Given the description of an element on the screen output the (x, y) to click on. 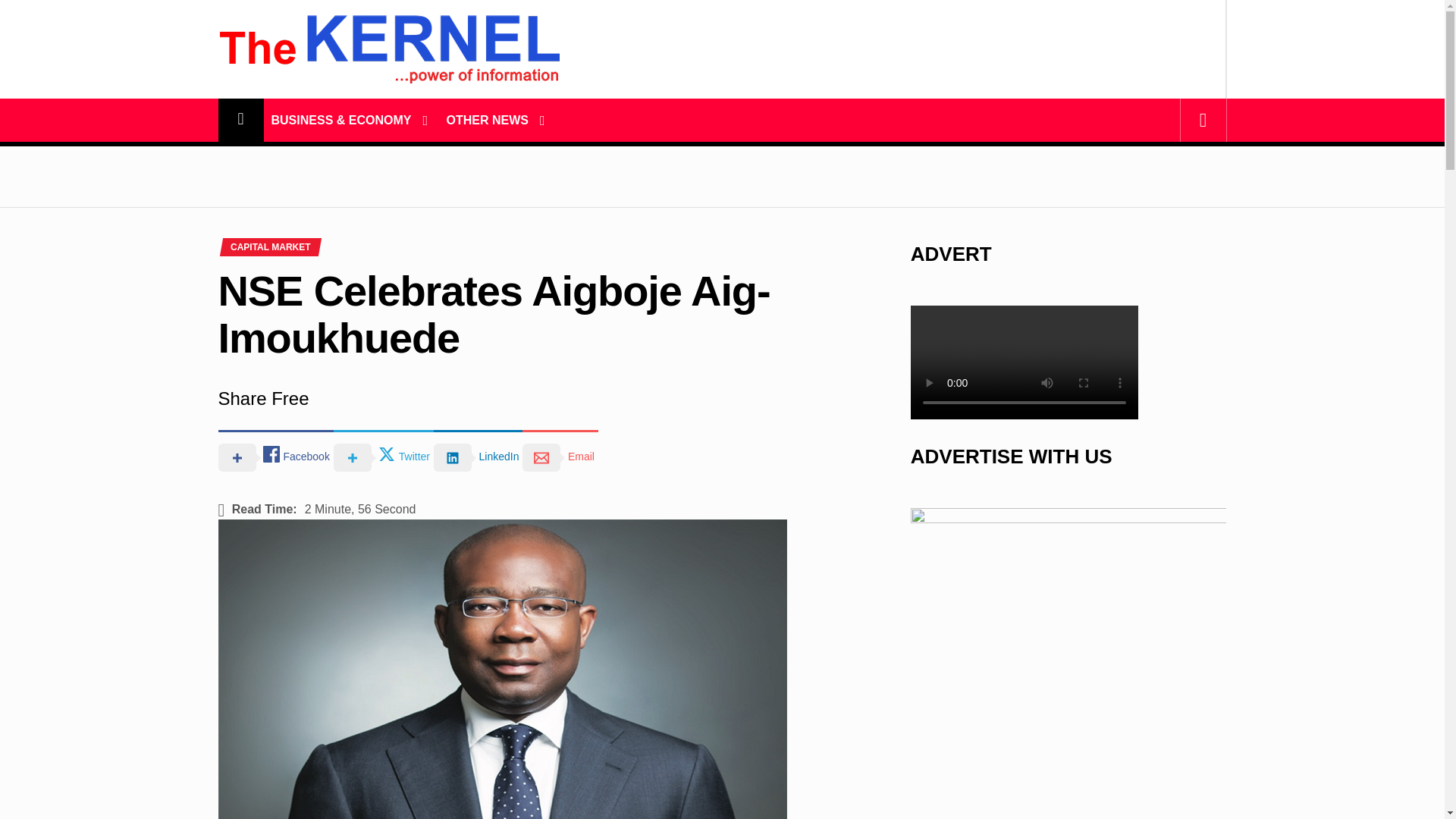
Home (240, 119)
THE KERNEL ONLINE NEWSPAPER (388, 133)
LinkedIn (477, 456)
CAPITAL MARKET (270, 246)
Email (559, 456)
Twitter (383, 456)
Facebook (275, 456)
OTHER NEWS (486, 119)
